Given the description of an element on the screen output the (x, y) to click on. 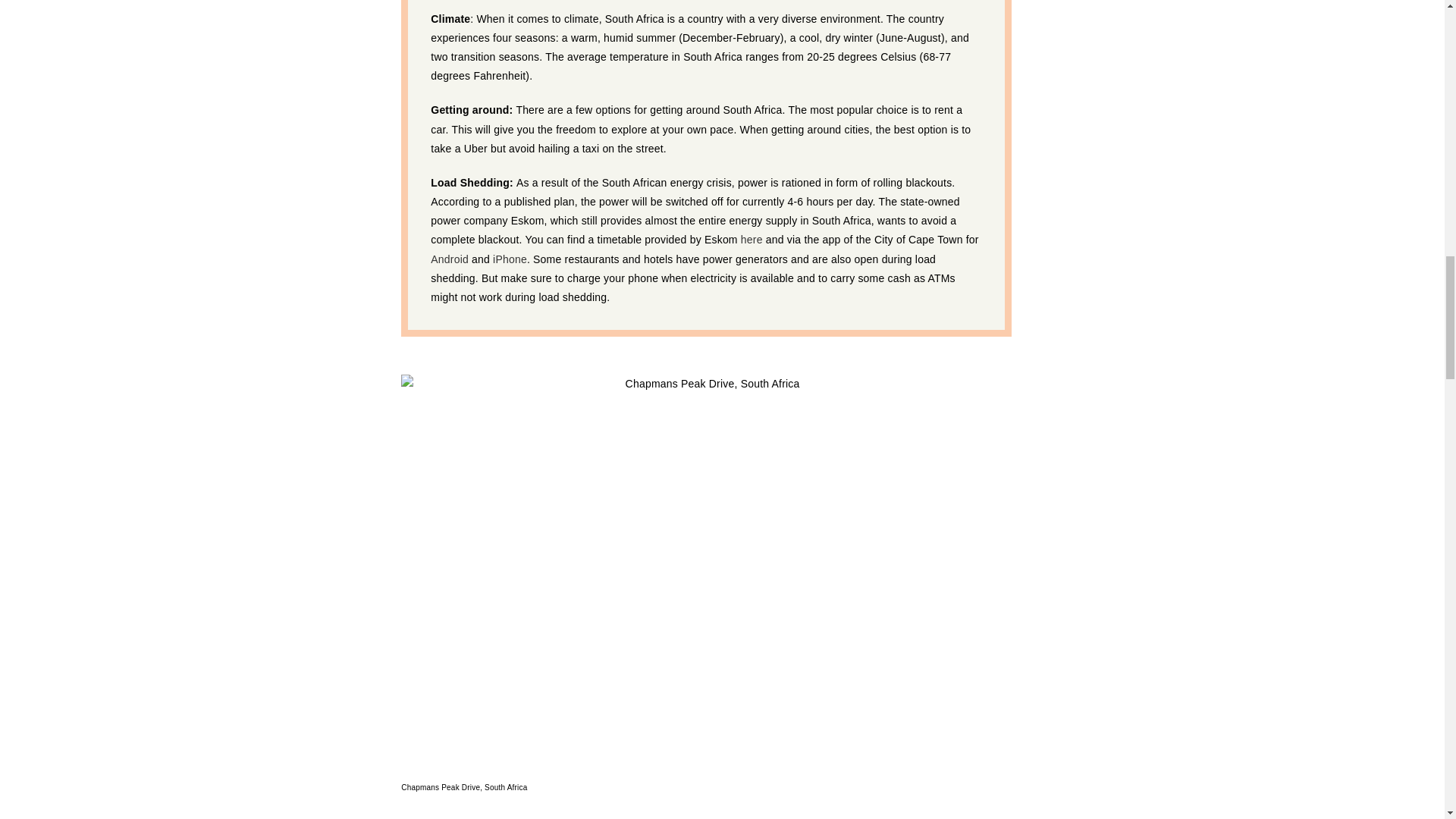
here (751, 239)
Android (449, 259)
iPhone (510, 259)
